Given the description of an element on the screen output the (x, y) to click on. 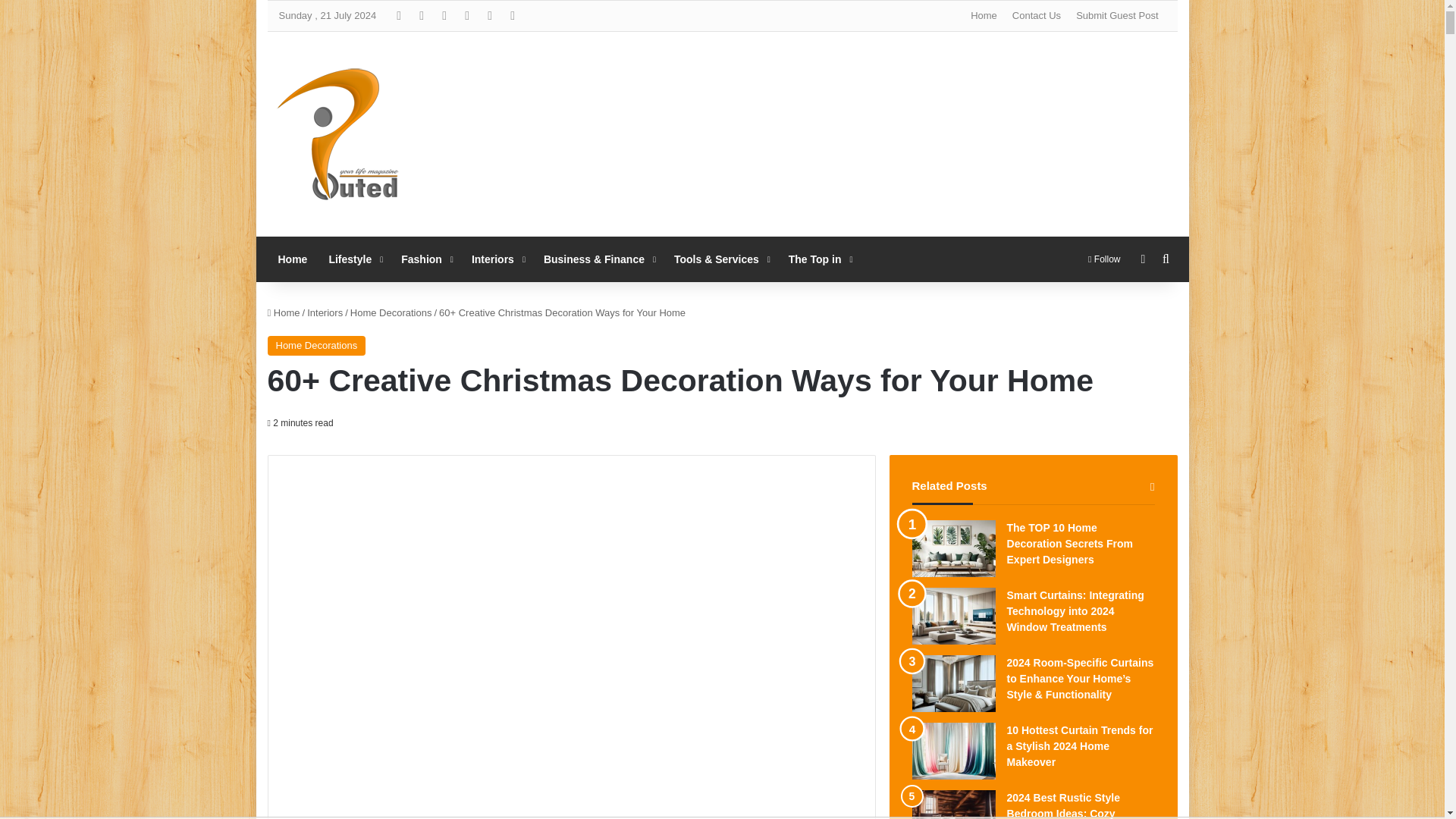
Interiors (496, 258)
Contact Us (1036, 15)
Home (983, 15)
Submit Guest Post (1117, 15)
Pouted Magazine (338, 134)
Home (291, 258)
Fashion (425, 258)
Lifestyle (353, 258)
